Given the description of an element on the screen output the (x, y) to click on. 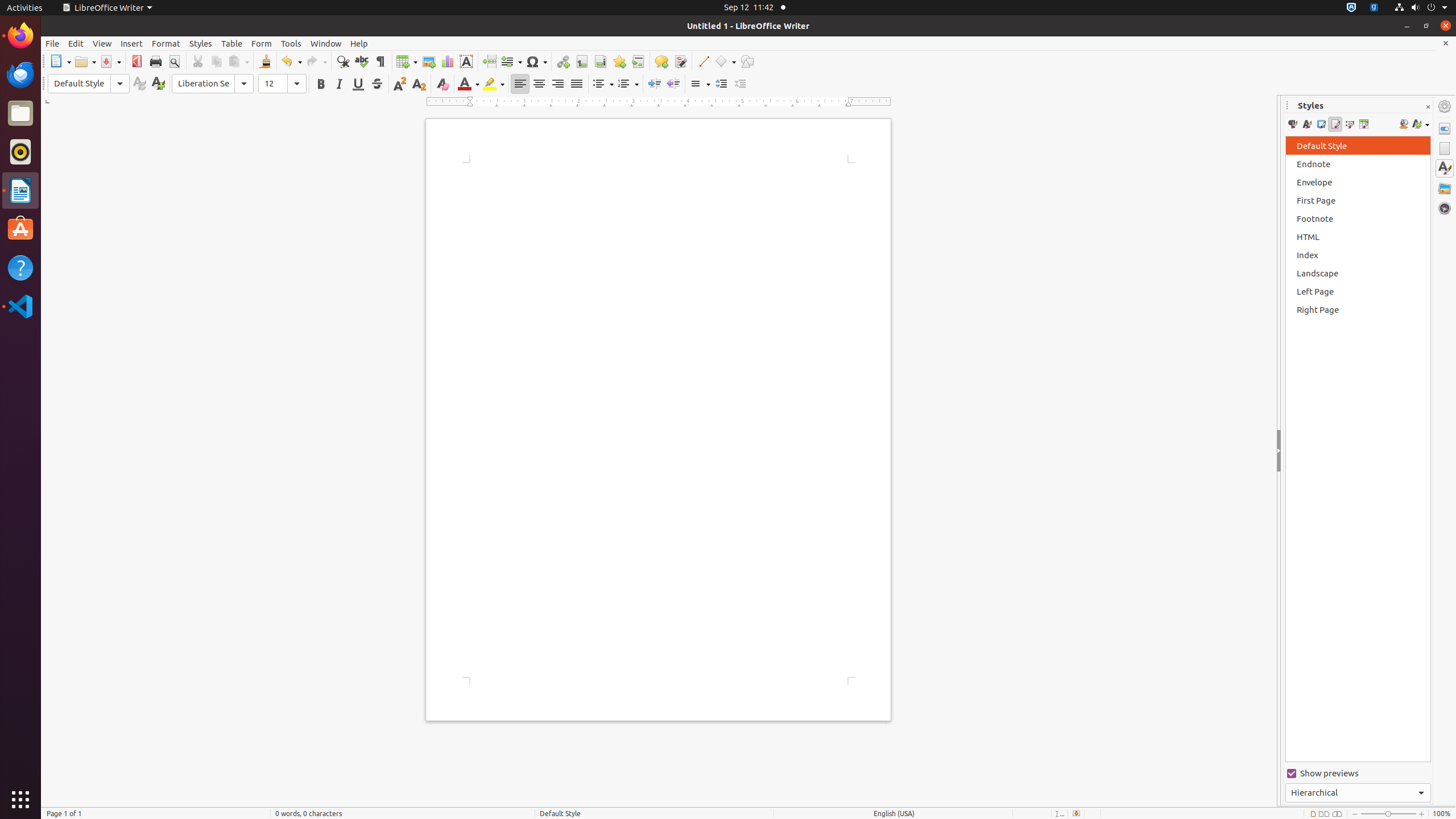
Visual Studio Code Element type: push-button (20, 306)
Character Styles Element type: push-button (1306, 123)
Fill Format Mode Element type: push-button (1403, 123)
Save Element type: push-button (109, 61)
